Given the description of an element on the screen output the (x, y) to click on. 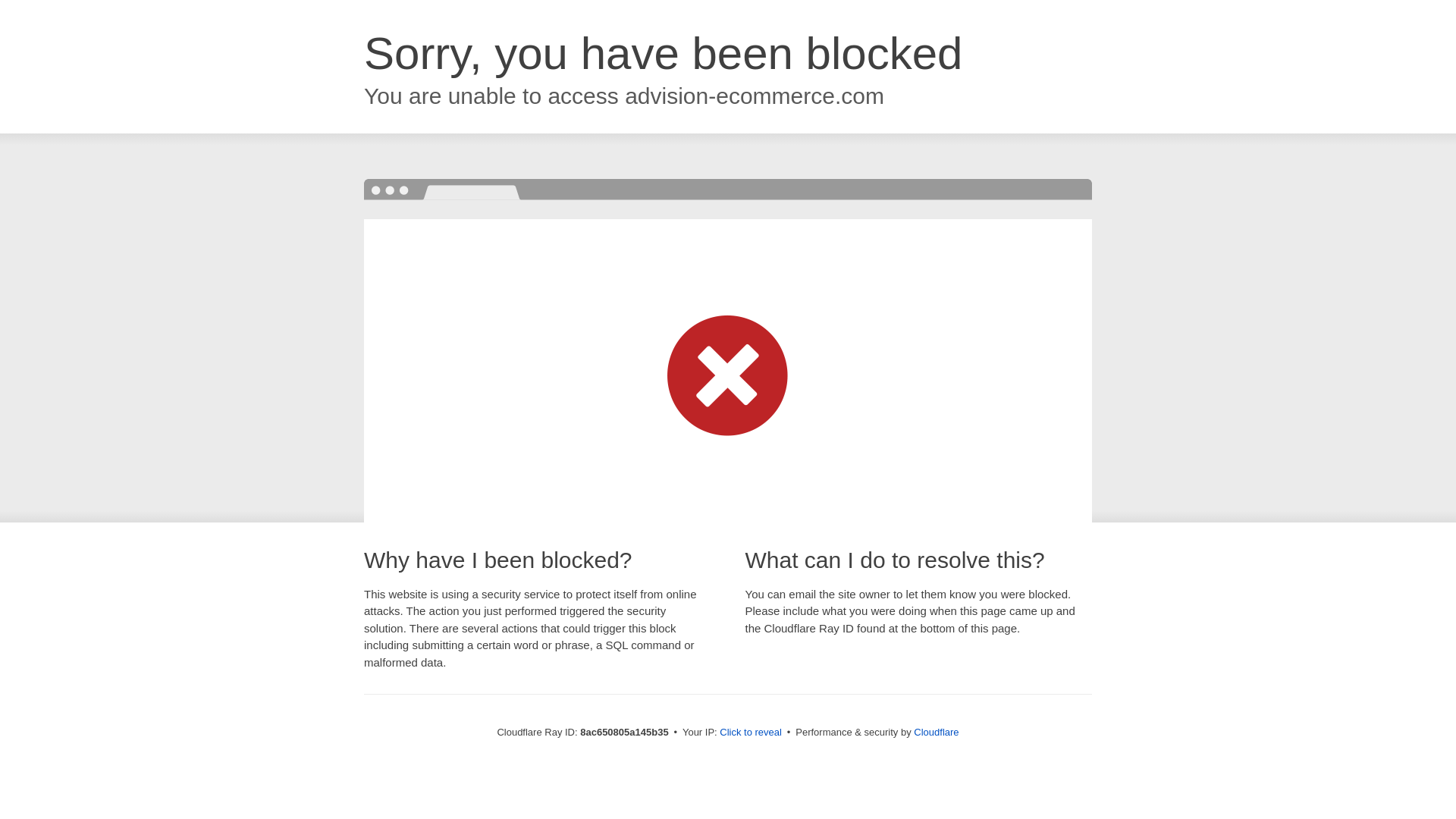
Cloudflare (936, 731)
Click to reveal (750, 732)
